Given the description of an element on the screen output the (x, y) to click on. 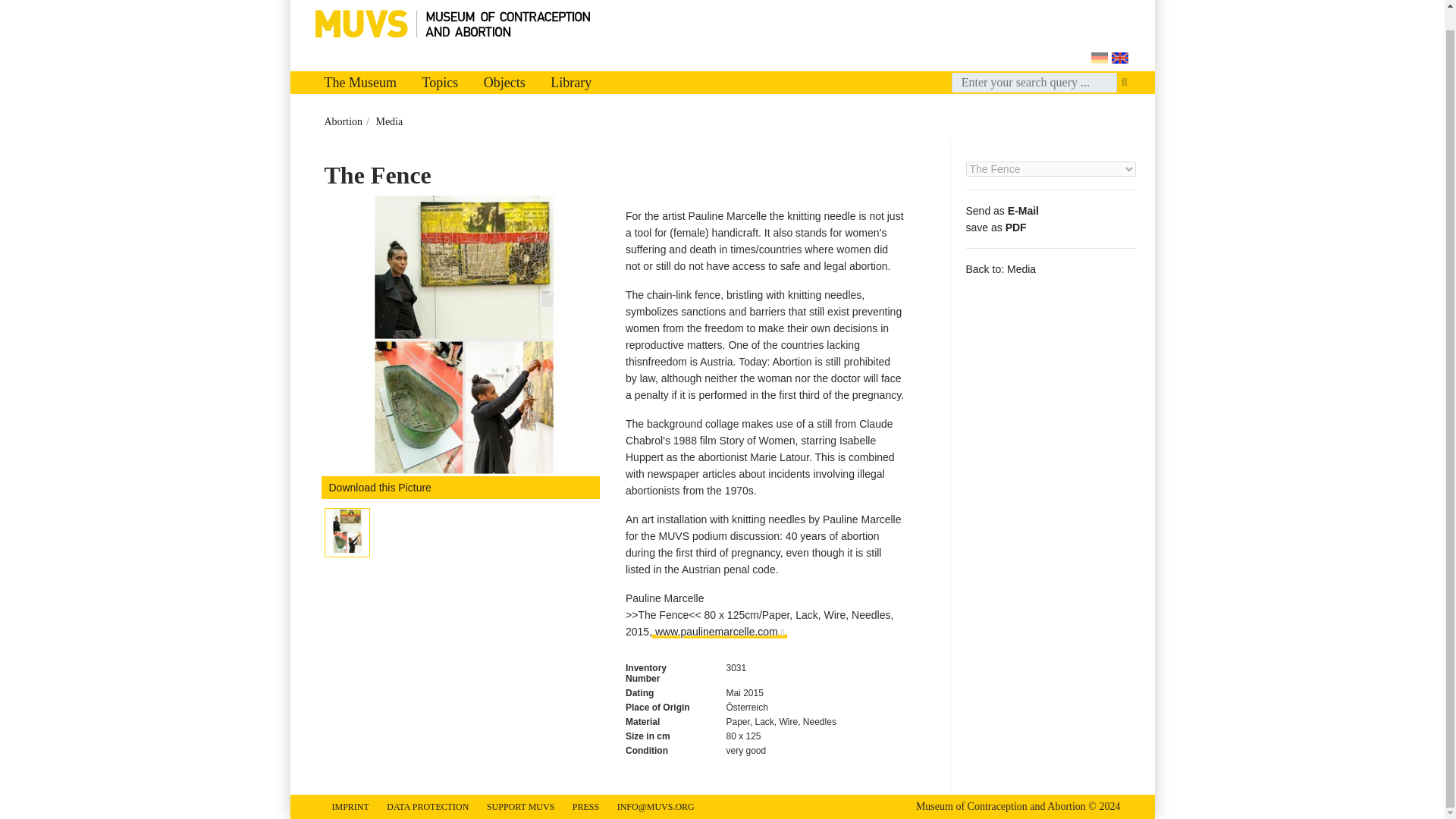
Stricknadelkunst (464, 335)
Objects (504, 82)
Topics (439, 82)
de (1098, 57)
Stricknadelkunst (346, 530)
en (1120, 57)
The Museum (360, 82)
de (1098, 57)
en (1120, 57)
